Given the description of an element on the screen output the (x, y) to click on. 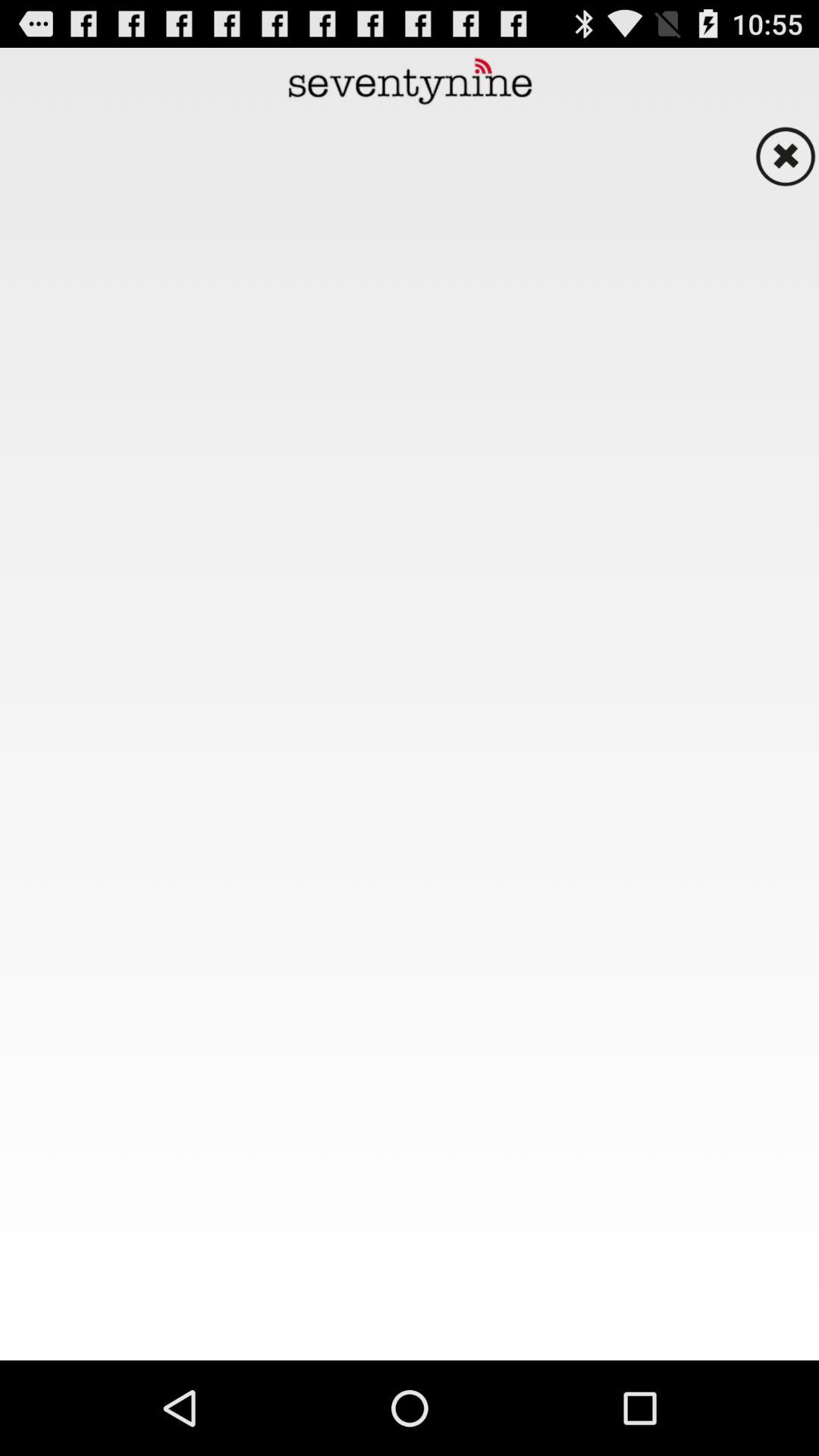
close (785, 156)
